Given the description of an element on the screen output the (x, y) to click on. 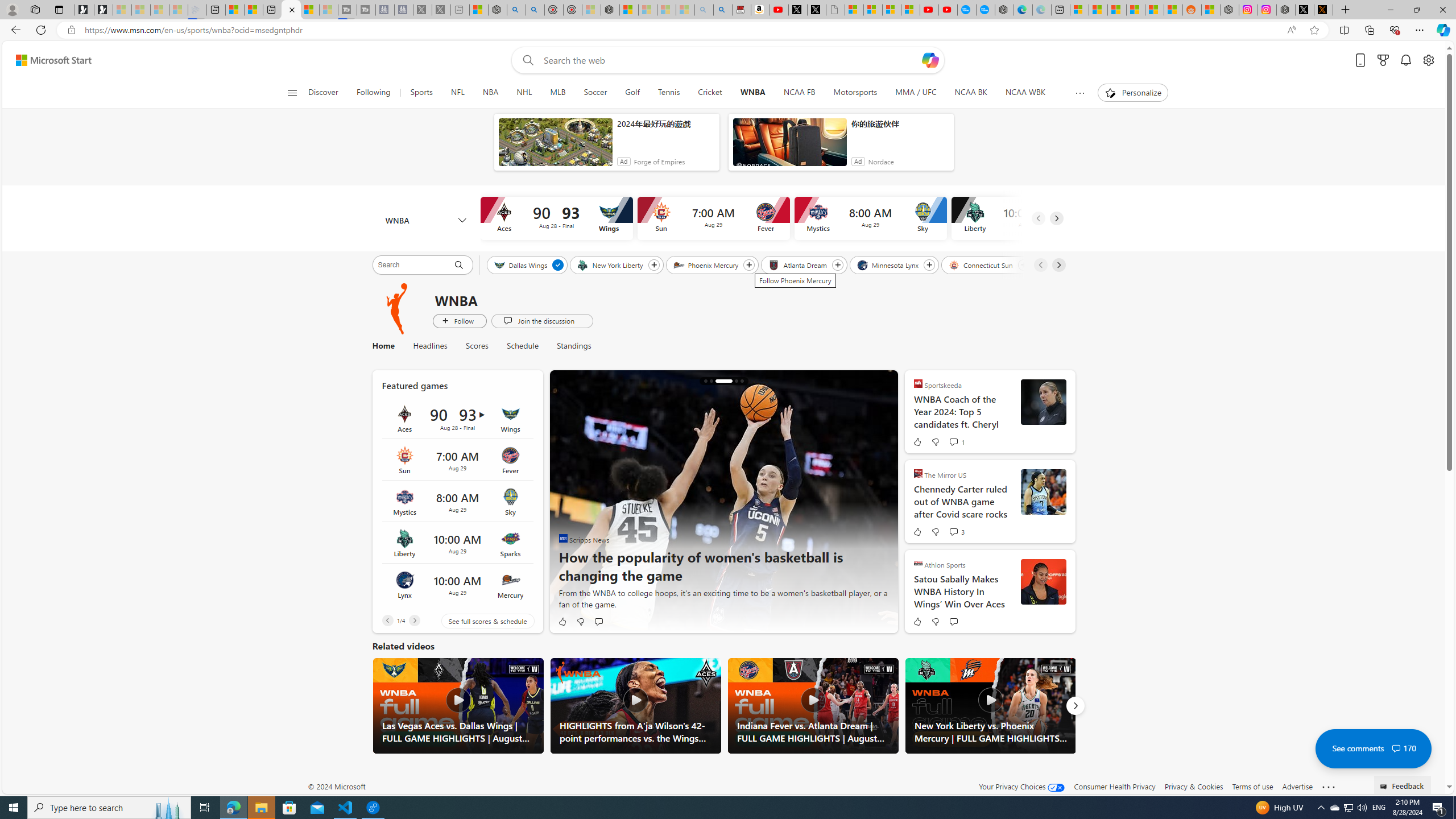
Athlon Sports (917, 563)
WNBA (752, 92)
poe ++ standard - Search (534, 9)
Follow Atlanta Dream (837, 265)
Nordace - Nordace has arrived Hong Kong (1004, 9)
MMA / UFC (915, 92)
Privacy & Cookies (1193, 786)
See comments 170 (1372, 748)
View comments 3 Comment (956, 531)
